Given the description of an element on the screen output the (x, y) to click on. 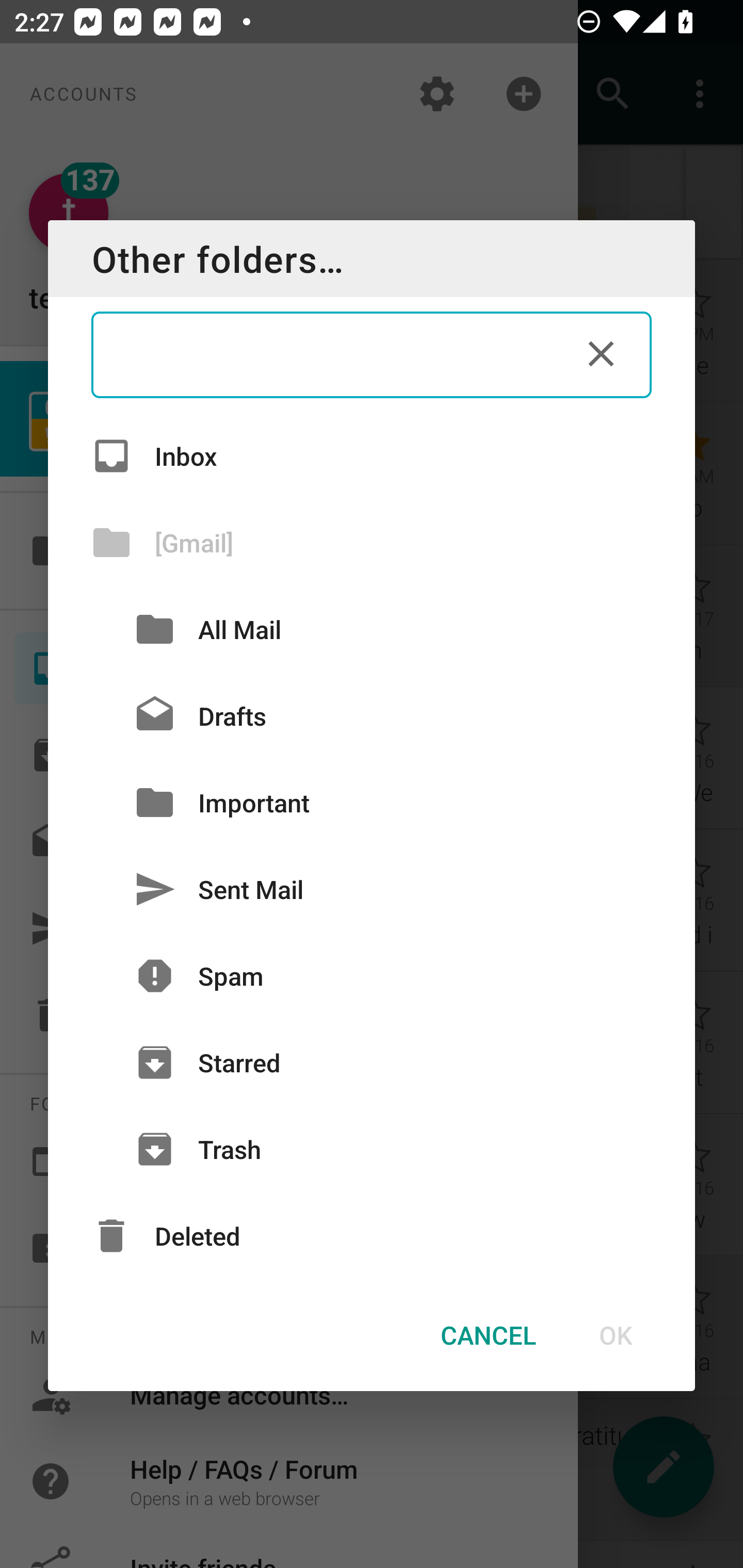
Cancel (600, 353)
Inbox (371, 455)
All Mail (371, 629)
Drafts (371, 715)
Important (371, 801)
Sent Mail (371, 888)
Spam (371, 975)
Starred (371, 1062)
Trash (371, 1149)
Deleted (371, 1236)
CANCEL (488, 1334)
OK (615, 1334)
